Given the description of an element on the screen output the (x, y) to click on. 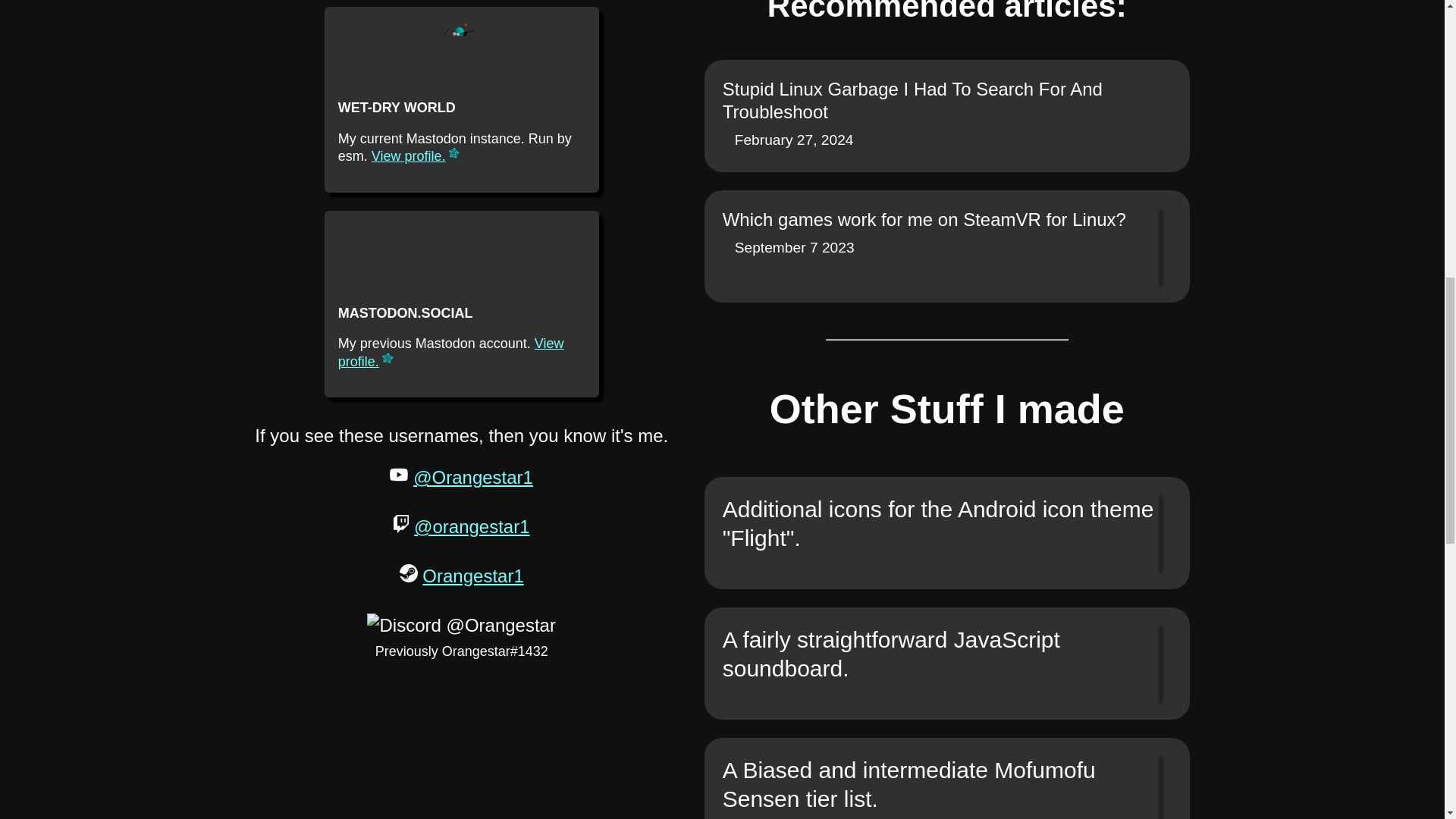
Orangestar1 (472, 575)
A Biased and intermediate Mofumofu Sensen tier list. (461, 303)
A fairly straightforward JavaScript soundboard. (946, 778)
Additional icons for the Android icon theme "Flight". (946, 663)
